Given the description of an element on the screen output the (x, y) to click on. 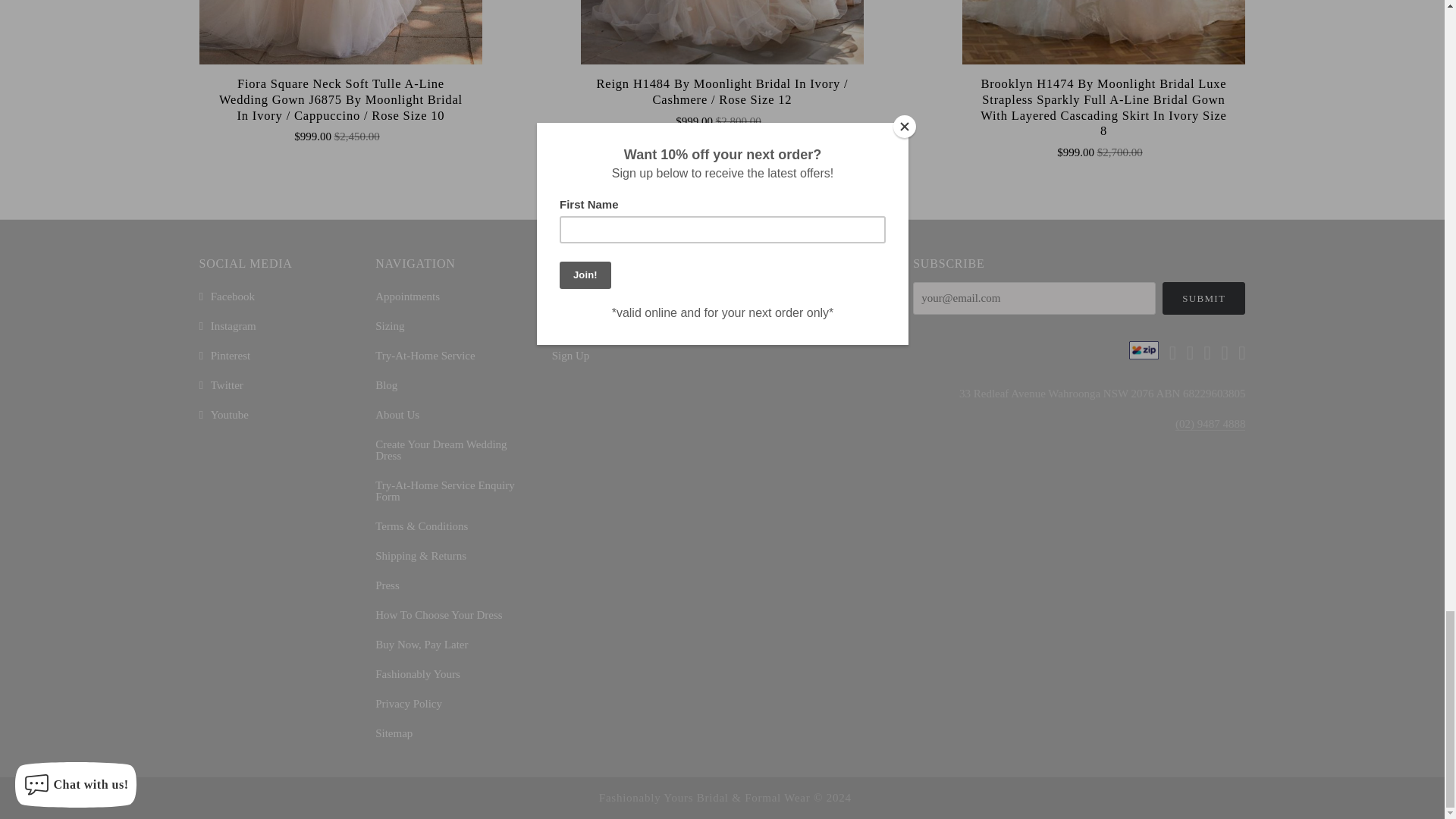
Submit (1203, 297)
